Given the description of an element on the screen output the (x, y) to click on. 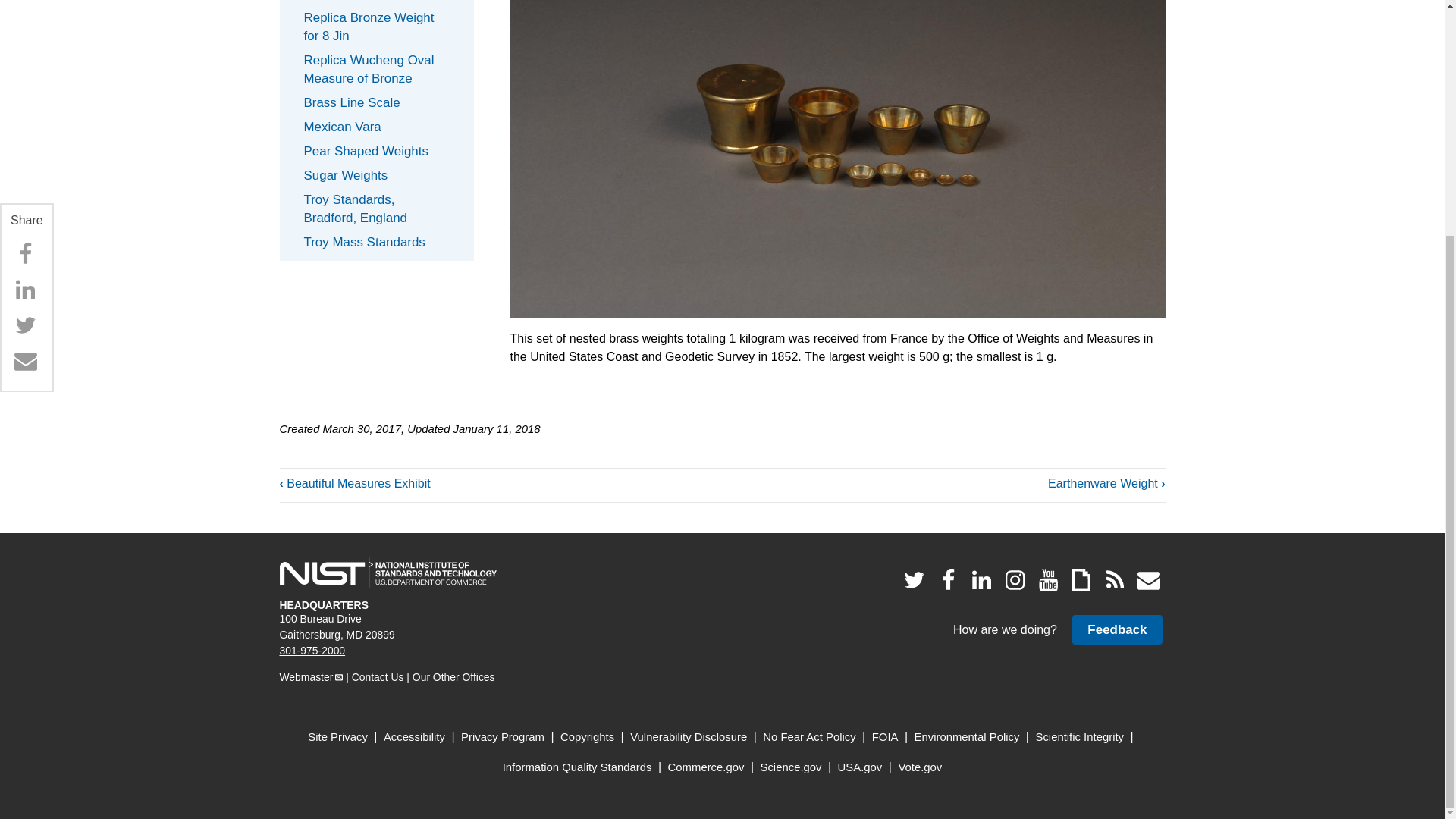
Email (25, 40)
Twitter (25, 9)
Brass Line Scale (376, 102)
Replica Bronze Weight for 8 Jin (376, 26)
National Institute of Standards and Technology (387, 572)
Sugar Weights (376, 175)
301-975-2000 (312, 650)
Go to next page (1106, 484)
Replica Wucheng Oval Measure of Bronze (376, 69)
Troy Mass Standards (376, 242)
Pear Shaped Weights (376, 151)
Litre Standard (376, 2)
Troy Standards, Bradford, England (376, 209)
Mexican Vara (376, 127)
Provide feedback (1116, 629)
